Given the description of an element on the screen output the (x, y) to click on. 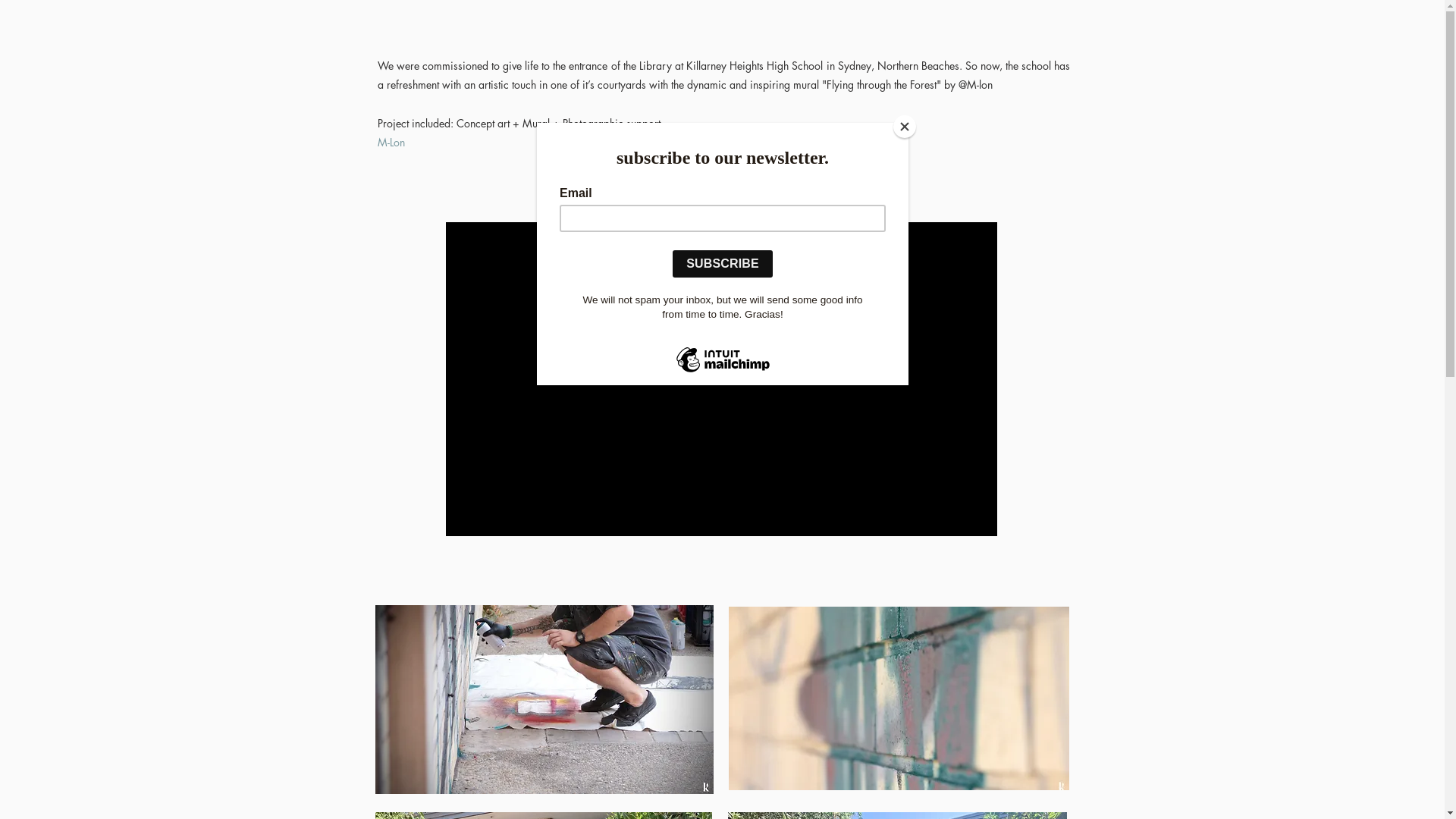
M-Lon Element type: text (390, 141)
